Given the description of an element on the screen output the (x, y) to click on. 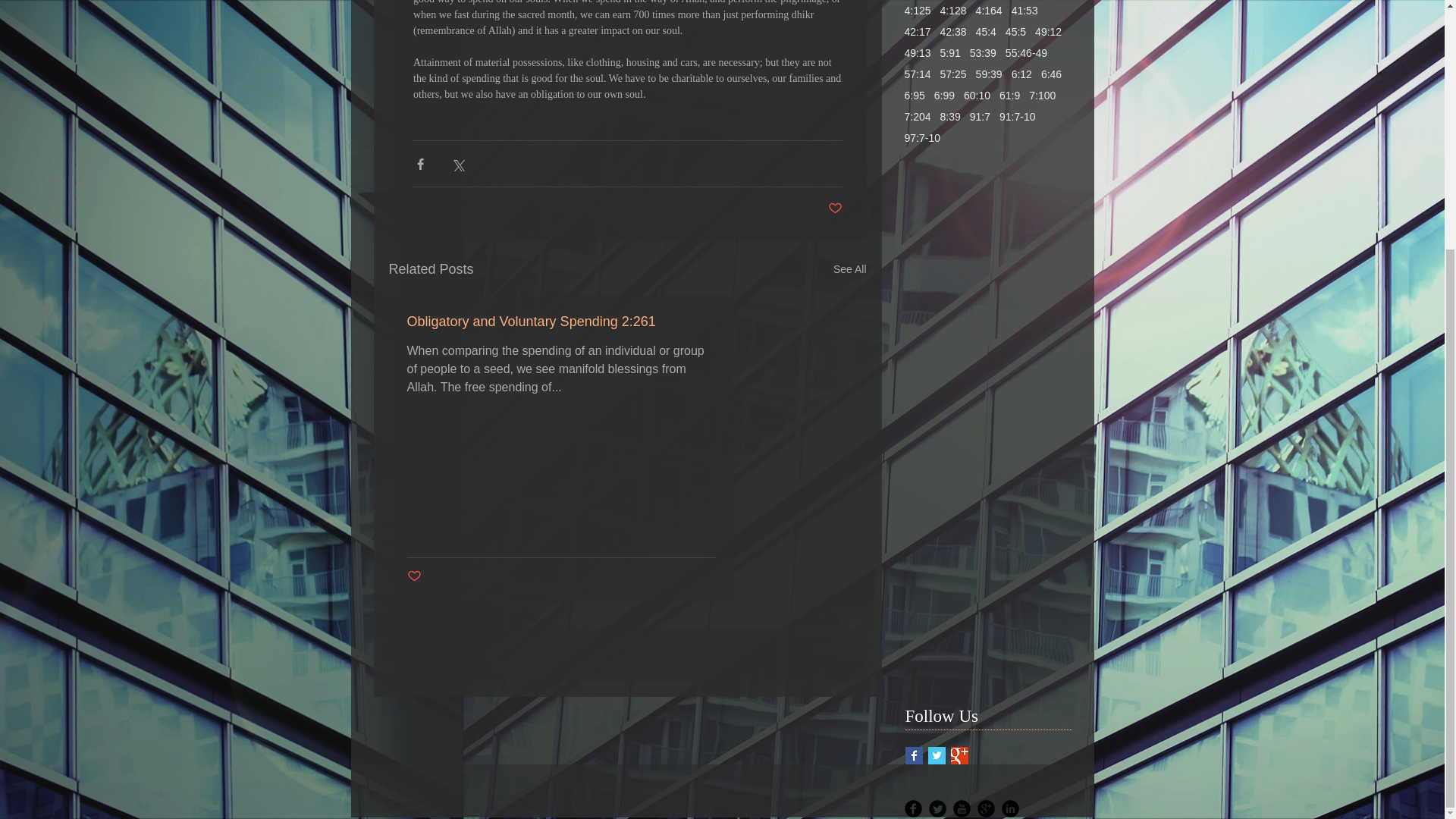
See All (849, 269)
Post not marked as liked (413, 576)
Obligatory and Voluntary Spending 2:261 (560, 321)
Post not marked as liked (835, 208)
